Given the description of an element on the screen output the (x, y) to click on. 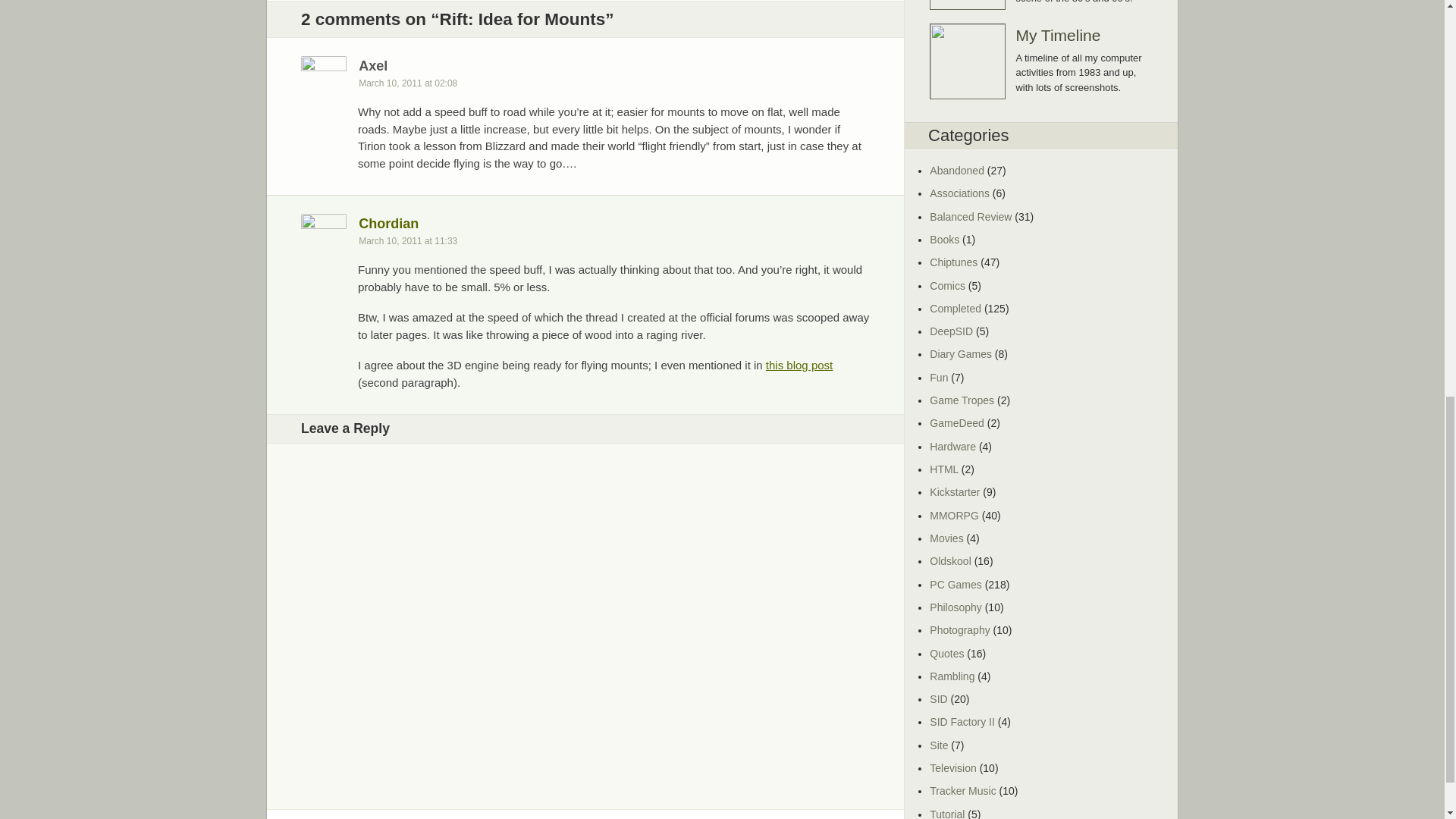
March 10, 2011 at 11:33 (411, 240)
Diary Games (960, 354)
Chiptunes (953, 262)
Balanced Review (970, 216)
this blog post (798, 364)
Comics (947, 285)
Books (944, 239)
Completed (955, 308)
DeepSID (951, 331)
